Given the description of an element on the screen output the (x, y) to click on. 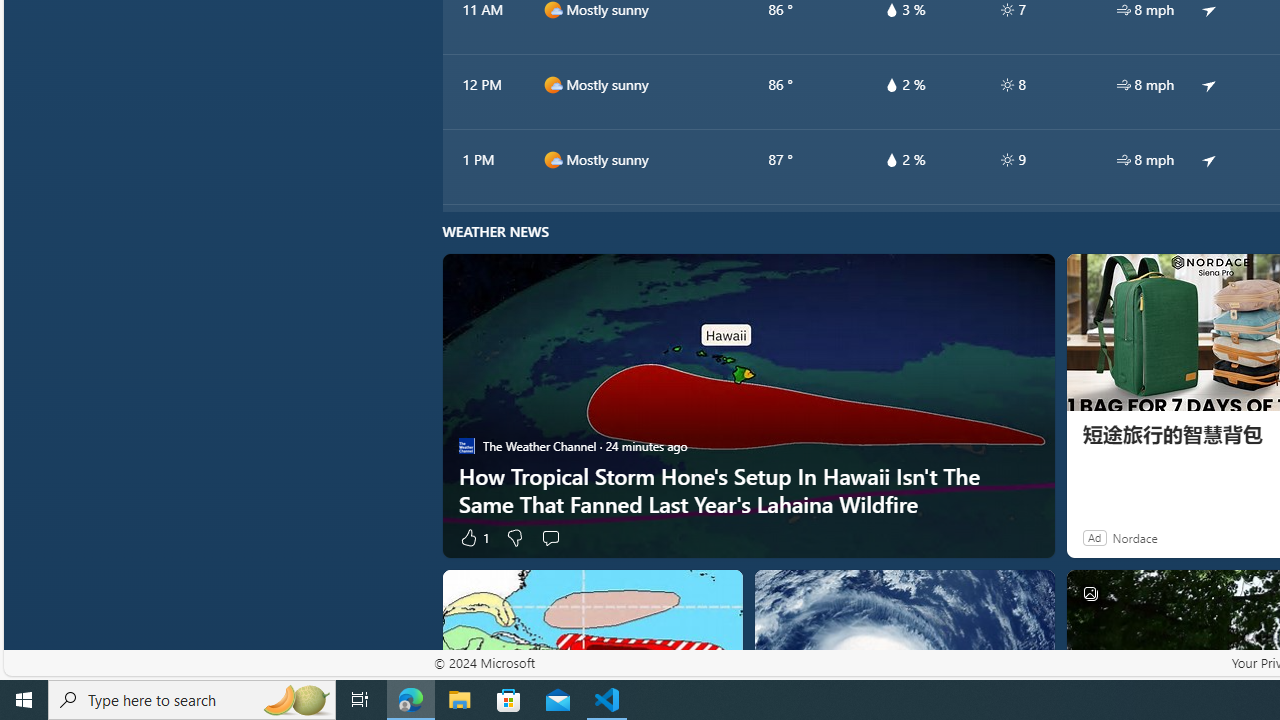
d1000 (552, 159)
hourlyTable/drop (891, 159)
1 Like (473, 537)
The Weather Channel (466, 445)
hourlyTable/uv (1007, 159)
common/arrow (1209, 159)
